Given the description of an element on the screen output the (x, y) to click on. 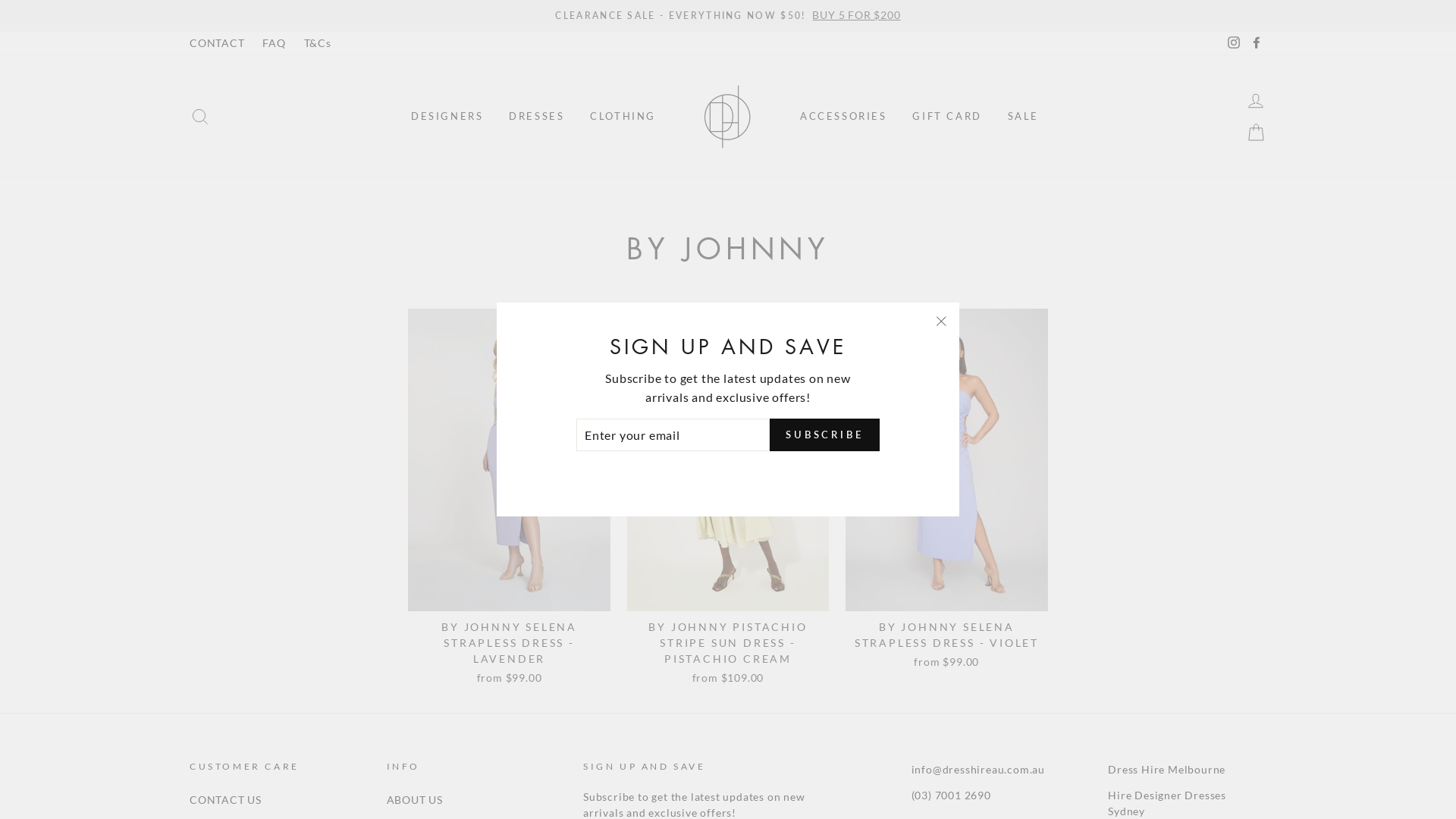
SEARCH Element type: text (199, 116)
Instagram Element type: text (1233, 43)
BY JOHNNY SELENA STRAPLESS DRESS - VIOLET
from $99.00 Element type: text (946, 490)
BY JOHNNY SELENA STRAPLESS DRESS - LAVENDER
from $99.00 Element type: text (508, 498)
SUBSCRIBE Element type: text (824, 434)
FAQ Element type: text (273, 43)
ABOUT US Element type: text (414, 800)
info@dresshireau.com.au Element type: text (977, 770)
Skip to content Element type: text (0, 0)
(03) 7001 2690 Element type: text (951, 795)
UNSURE OF SIZE OR STYLE? Use our BACKUP dress service Element type: text (727, 15)
ACCESSORIES Element type: text (843, 116)
Dress Hire Melbourne Element type: text (1166, 770)
GIFT CARD Element type: text (946, 116)
CART Element type: text (1255, 132)
CONTACT Element type: text (217, 43)
Facebook Element type: text (1256, 43)
DESIGNERS Element type: text (446, 116)
"Close (esc)" Element type: text (940, 320)
LOG IN Element type: text (1255, 99)
DRESSES Element type: text (536, 116)
T&Cs Element type: text (317, 43)
CONTACT US Element type: text (225, 800)
SALE Element type: text (1023, 116)
CLOTHING Element type: text (622, 116)
